Given the description of an element on the screen output the (x, y) to click on. 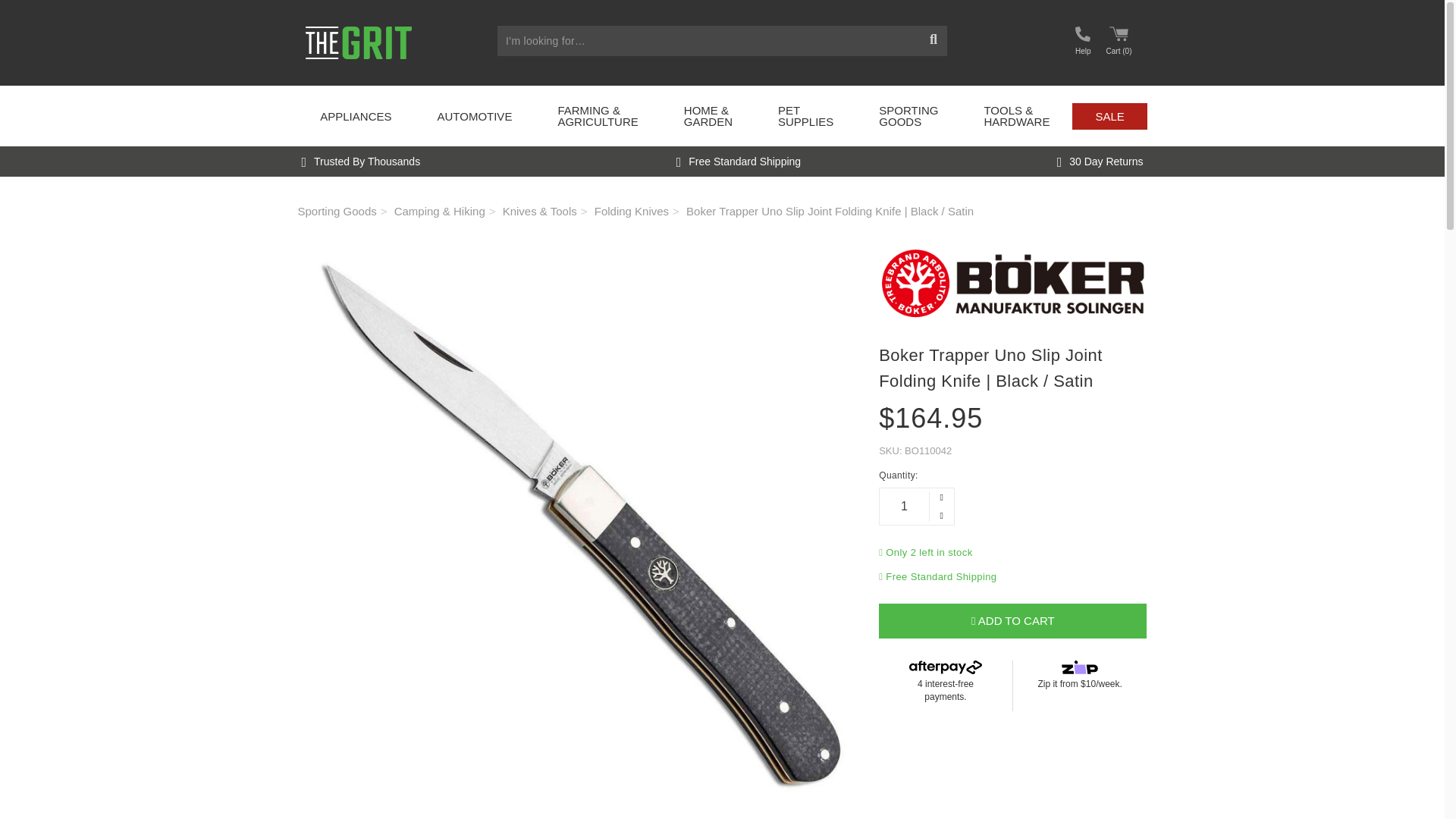
1 (903, 506)
APPLIANCES (355, 116)
AUTOMOTIVE (473, 116)
